Given the description of an element on the screen output the (x, y) to click on. 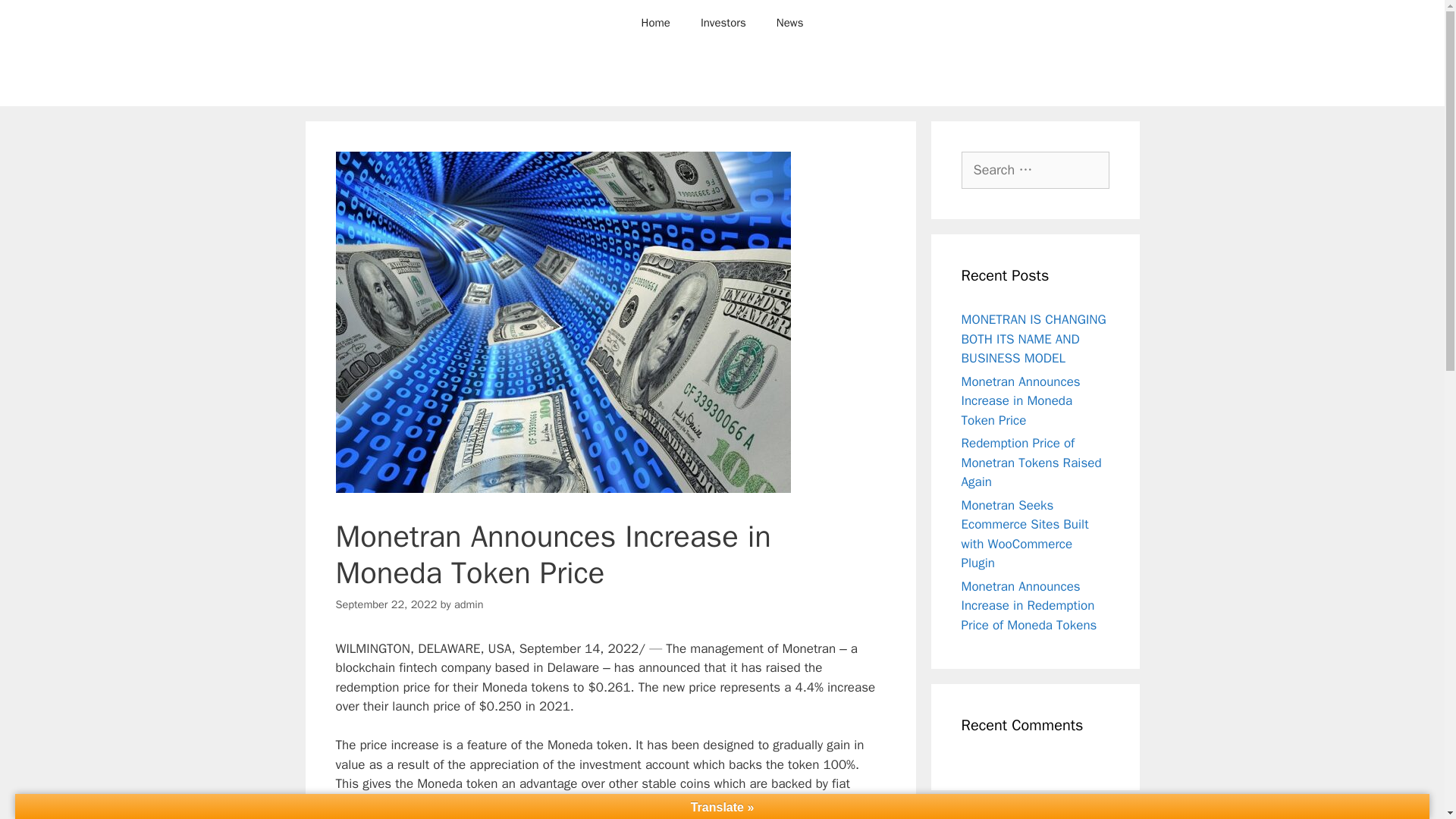
September 22, 2022 (385, 603)
Monetran Announces Increase in Moneda Token Price (1020, 400)
News (789, 22)
Monetran Seeks Ecommerce Sites Built with WooCommerce Plugin (1024, 534)
Redemption Price of Monetran Tokens Raised Again (1031, 461)
Search (35, 18)
Search for: (1034, 170)
MONETRAN IS CHANGING BOTH ITS NAME AND BUSINESS MODEL (1033, 339)
7:24 pm (385, 603)
